Given the description of an element on the screen output the (x, y) to click on. 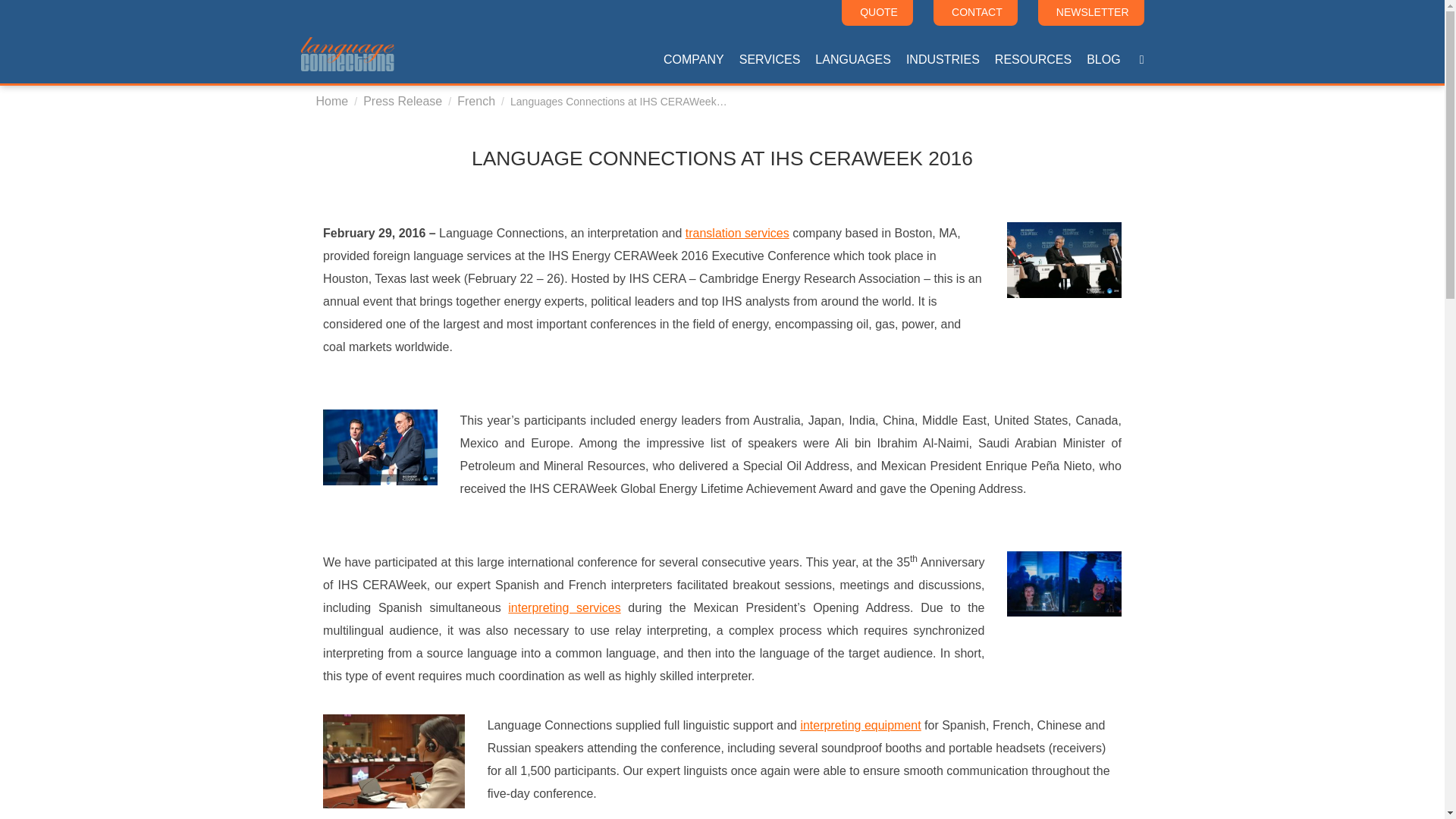
COMPANY (694, 53)
language connections at CERAWeek 2016-3 (1064, 583)
Home (331, 101)
French (476, 101)
SERVICES (770, 53)
 NEWSLETTER (1091, 12)
Press Release (402, 101)
language connections at CERAWeek 2016-2 (379, 447)
LANGUAGES (853, 53)
 CONTACT (975, 12)
 QUOTE (876, 12)
conference interpreters (393, 761)
language connections at CERAWeek 2016 (1064, 259)
